Given the description of an element on the screen output the (x, y) to click on. 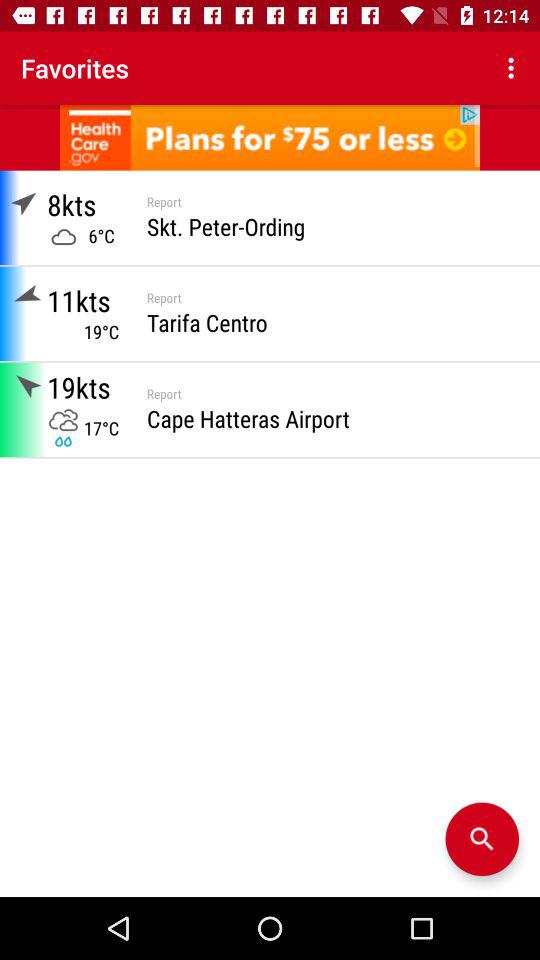
zoom in (482, 839)
